Given the description of an element on the screen output the (x, y) to click on. 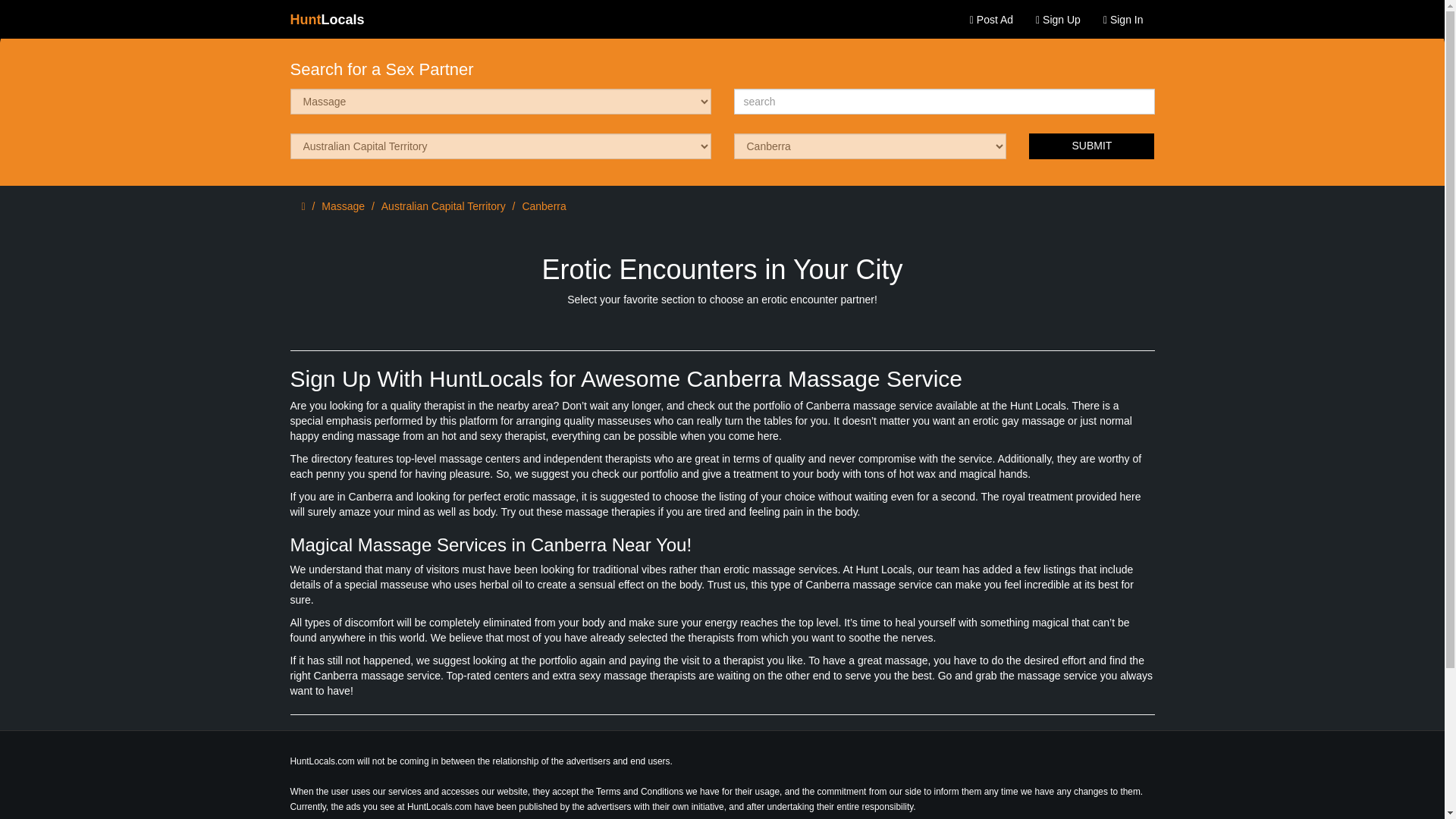
HuntLocals (327, 19)
Post Ad (991, 19)
Sign Up (1058, 19)
SUBMIT (1091, 145)
Sign In (1123, 19)
Australian Capital Territory (443, 205)
Massage (343, 205)
Canberra (543, 205)
